Given the description of an element on the screen output the (x, y) to click on. 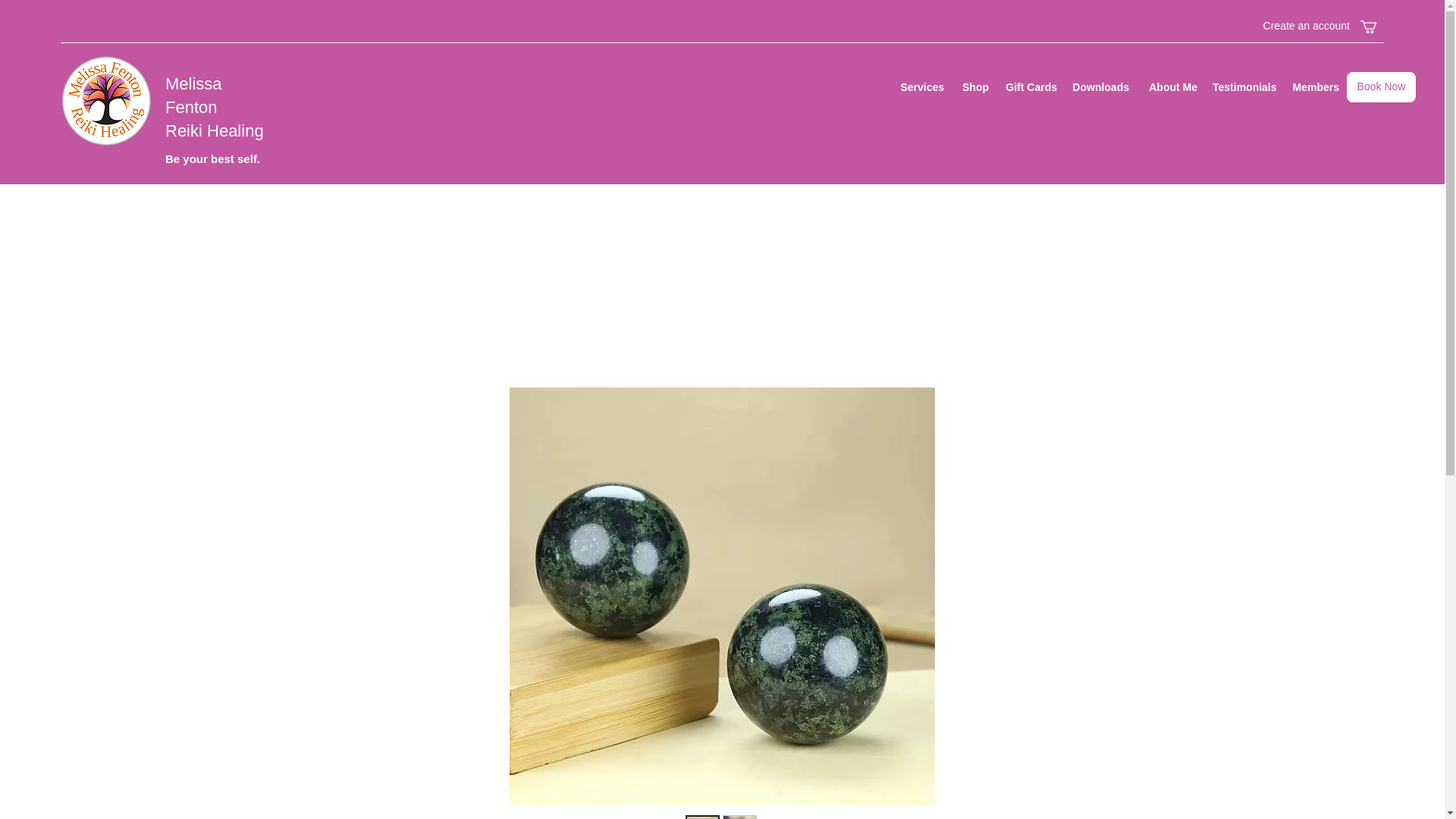
Book Now (1380, 87)
About Me (1171, 87)
Melissa Fenton (193, 95)
Gift Cards (1029, 87)
Services (922, 87)
Testimonials (1224, 47)
Downloads (1100, 87)
Shop (973, 87)
Shop (936, 47)
Reiki Healing (214, 130)
Testimonials (1243, 87)
Create an account (1292, 26)
Members (1296, 47)
Services (863, 47)
Gift Cards (1007, 47)
